Given the description of an element on the screen output the (x, y) to click on. 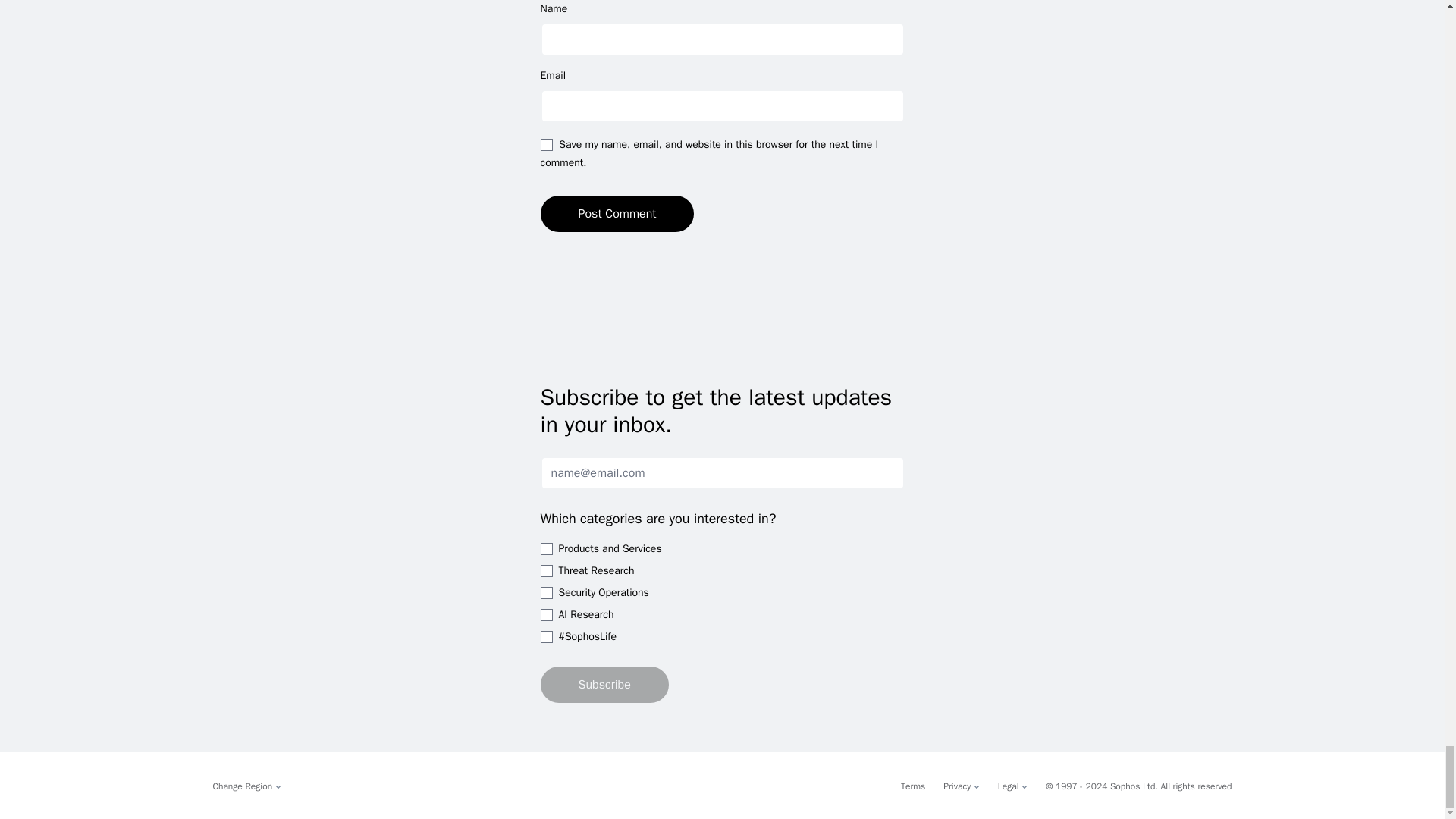
ai-research (545, 614)
Subscribe (604, 684)
yes (545, 144)
security-operations (545, 592)
sophos-life (545, 636)
products-services (545, 548)
Post Comment (617, 213)
threat-research (545, 571)
